Given the description of an element on the screen output the (x, y) to click on. 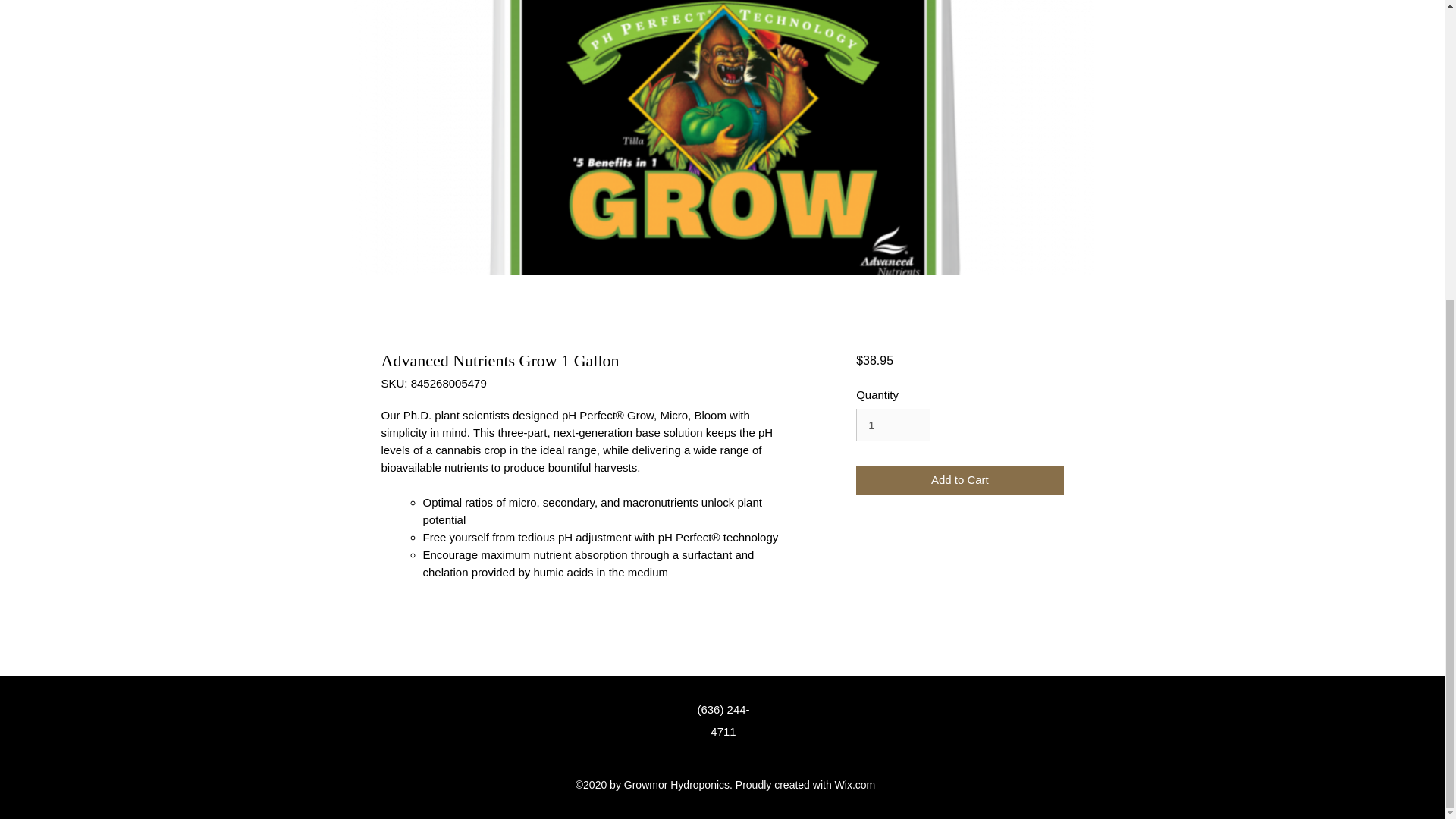
Add to Cart (959, 480)
1 (893, 425)
